Given the description of an element on the screen output the (x, y) to click on. 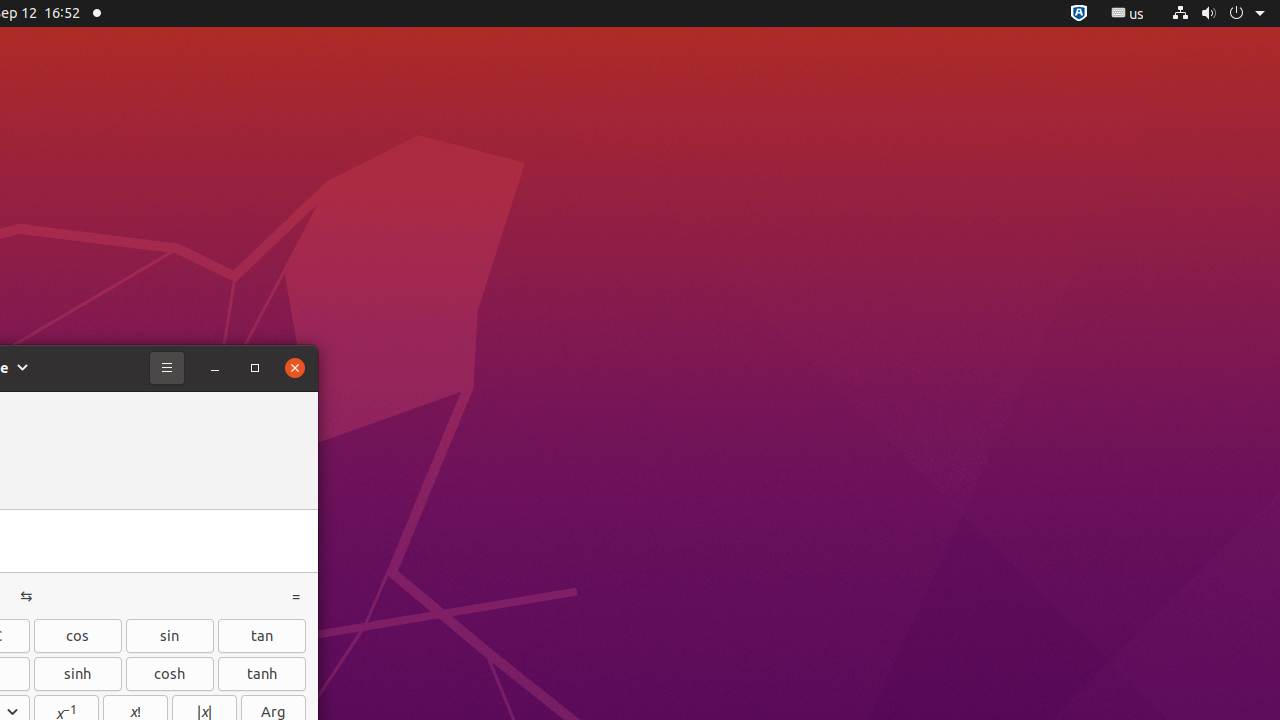
= Element type: label (296, 595)
⇆ Element type: push-button (26, 596)
Close Element type: push-button (295, 368)
Primary menu Element type: toggle-button (167, 367)
